Given the description of an element on the screen output the (x, y) to click on. 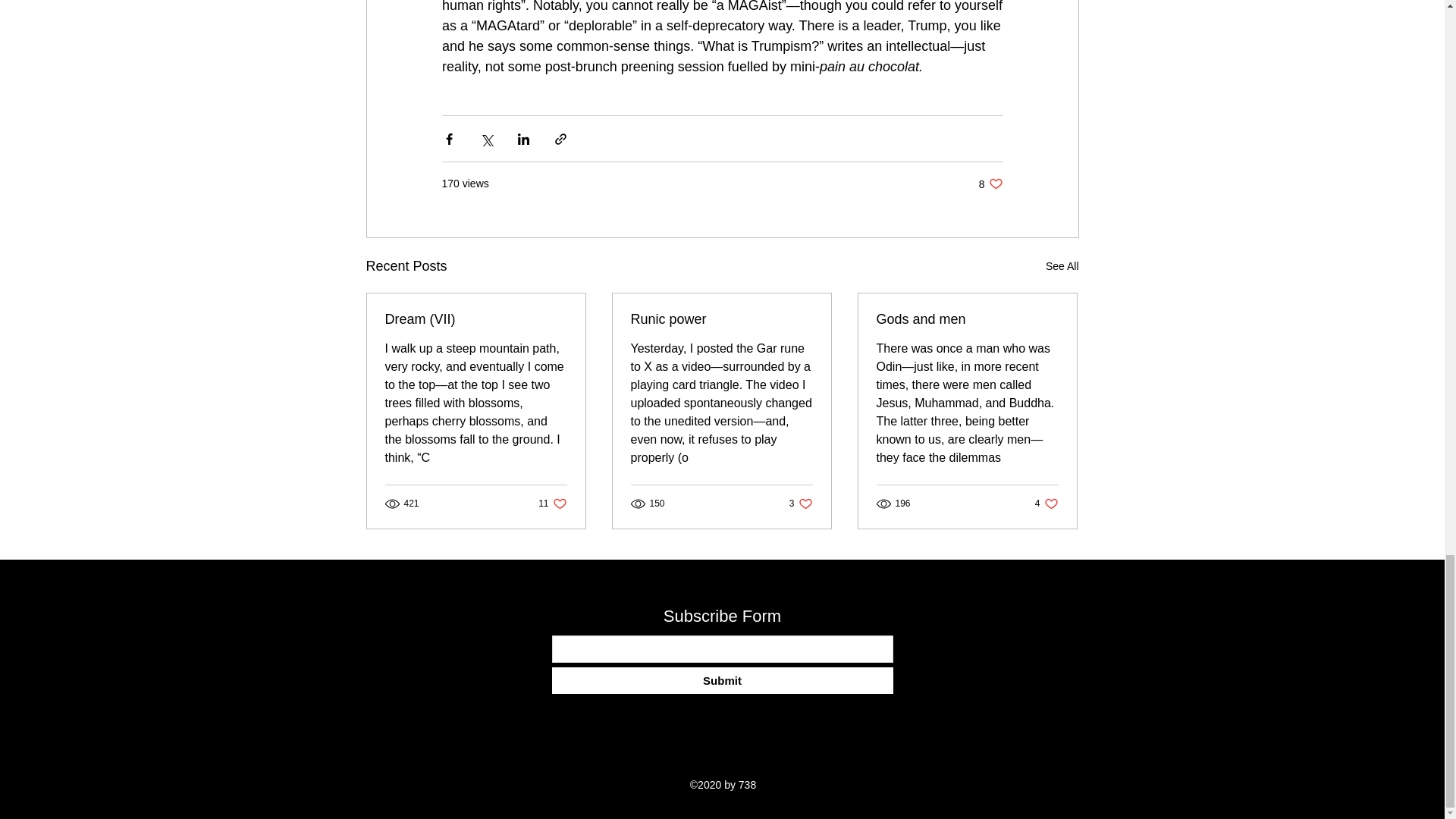
Runic power (721, 319)
See All (1061, 266)
Submit (722, 680)
Gods and men (967, 319)
